Given the description of an element on the screen output the (x, y) to click on. 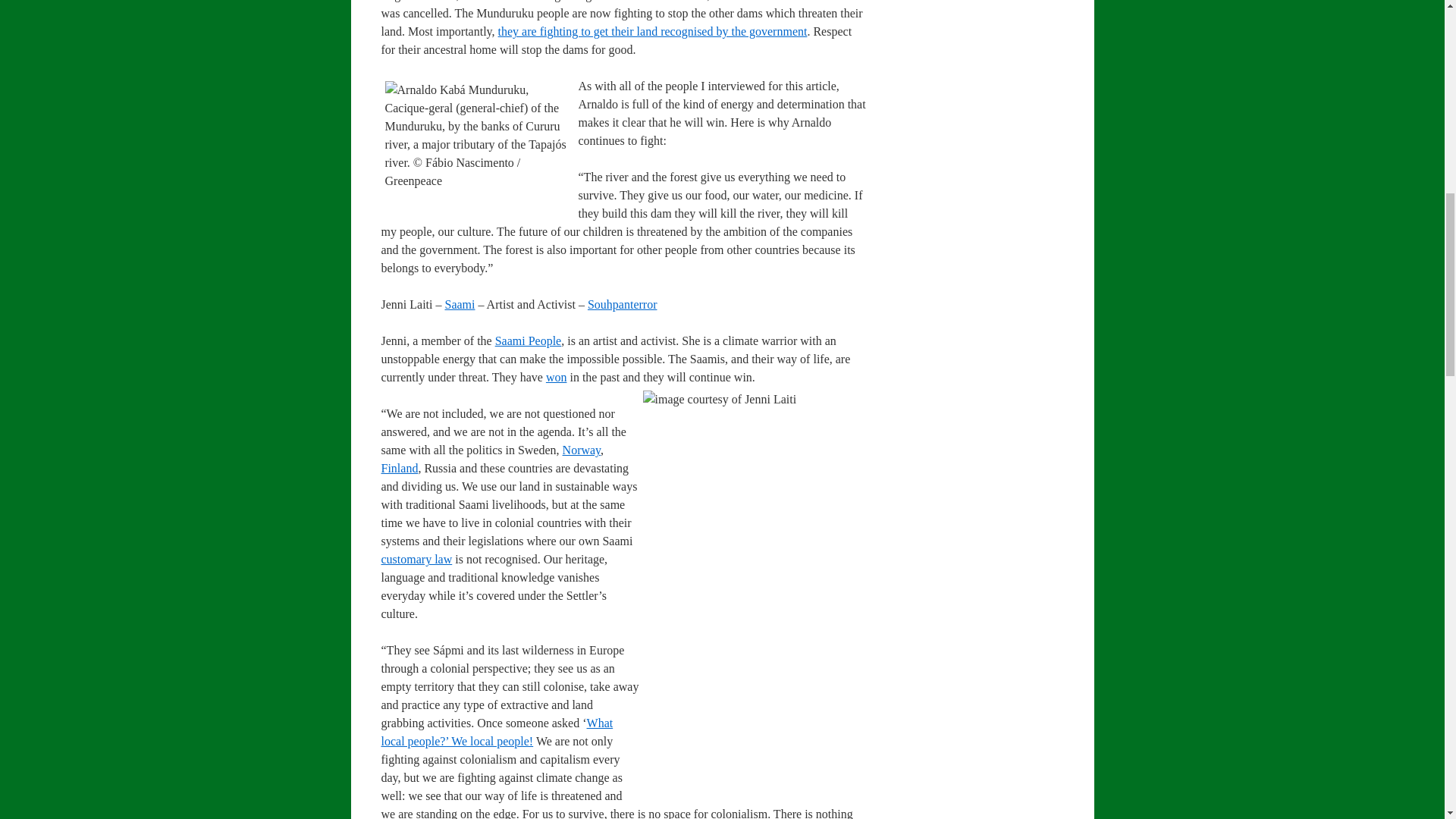
Saami People (528, 340)
Souhpanterror (623, 304)
Finland (398, 468)
Norway (581, 449)
customary law (415, 558)
won (556, 377)
Saami (459, 304)
